Given the description of an element on the screen output the (x, y) to click on. 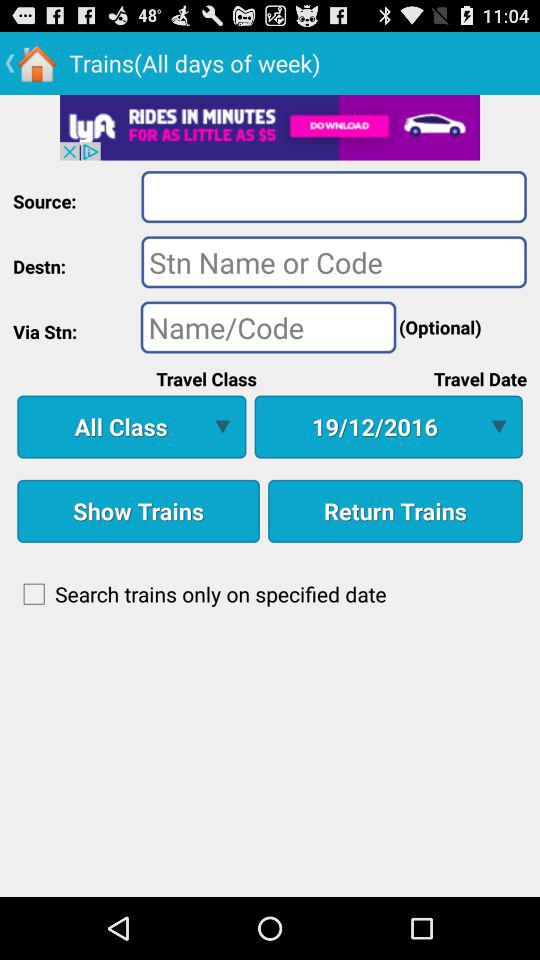
enter area (333, 196)
